Given the description of an element on the screen output the (x, y) to click on. 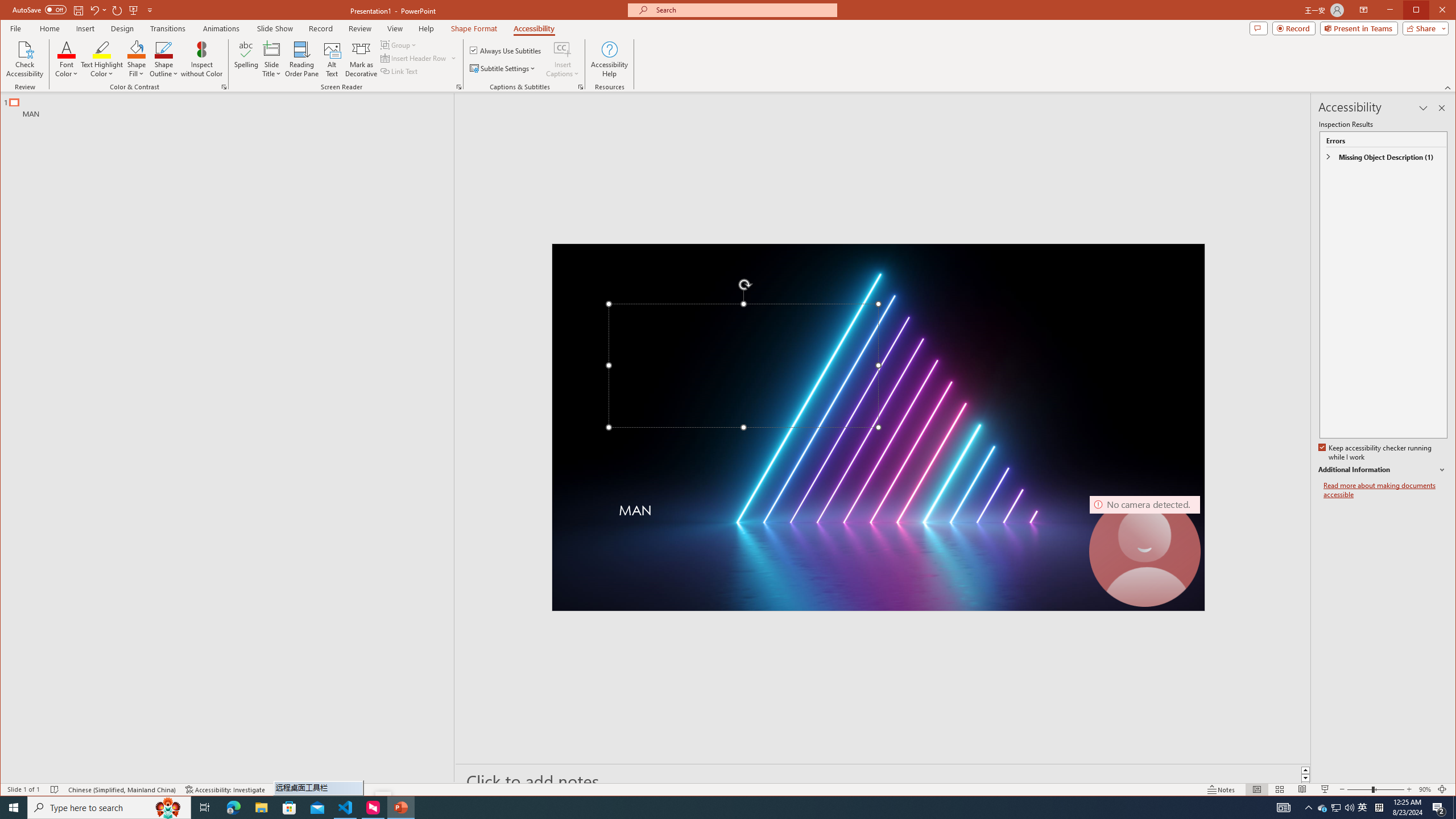
Insert Header Row (413, 57)
Slide Title (271, 59)
Screen Reader (458, 86)
